Given the description of an element on the screen output the (x, y) to click on. 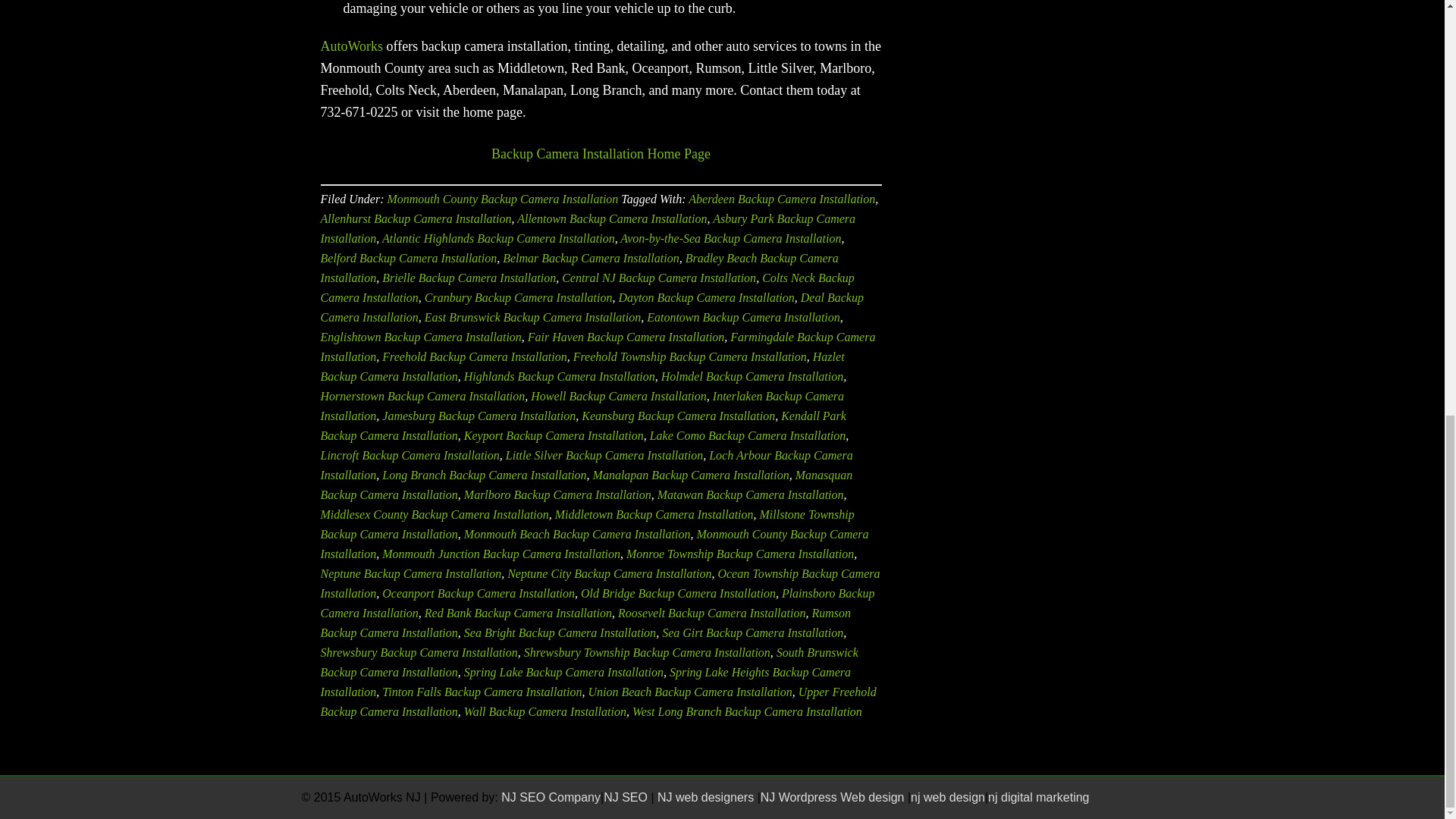
East Brunswick Backup Camera Installation (532, 317)
Cranbury Backup Camera Installation (518, 297)
Farmingdale Backup Camera Installation (597, 346)
Monmouth County Backup Camera Installation (601, 152)
Deal Backup Camera Installation (591, 307)
Asbury Park Backup Camera Installation (588, 228)
Fair Haven Backup Camera Installation (626, 336)
Eatontown Backup Camera Installation (743, 317)
AutoWorks (351, 45)
Holmdel Backup Camera Installation (752, 376)
